Given the description of an element on the screen output the (x, y) to click on. 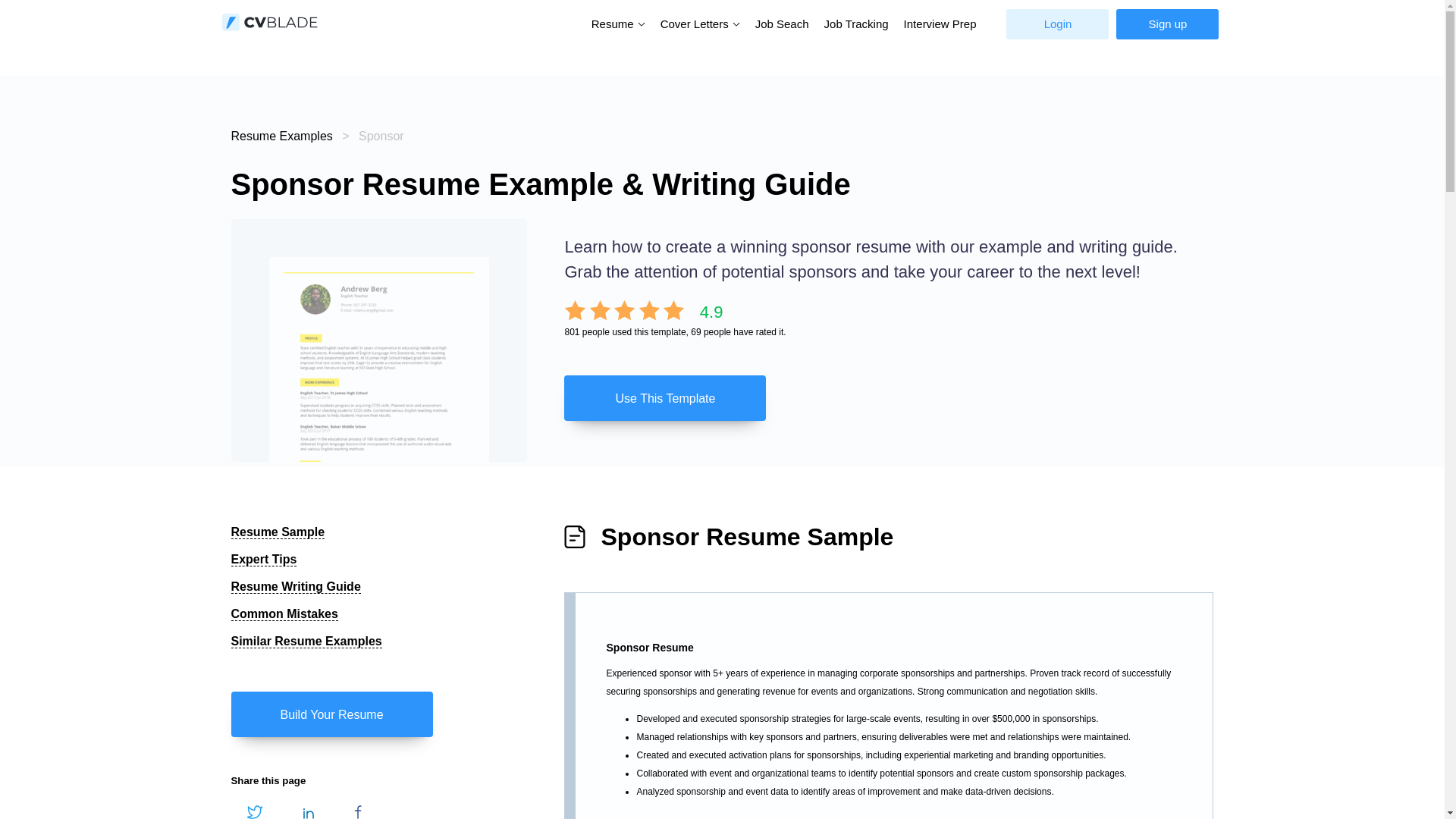
Job Tracking (856, 23)
Cover Letters (695, 23)
Interview Prep (940, 23)
Login (1057, 24)
Job Seach (782, 23)
Use This Template (888, 397)
Resume (614, 23)
Sign up (1167, 24)
Resume Sample (277, 531)
Resume Examples (280, 135)
Use This Template (664, 397)
